Given the description of an element on the screen output the (x, y) to click on. 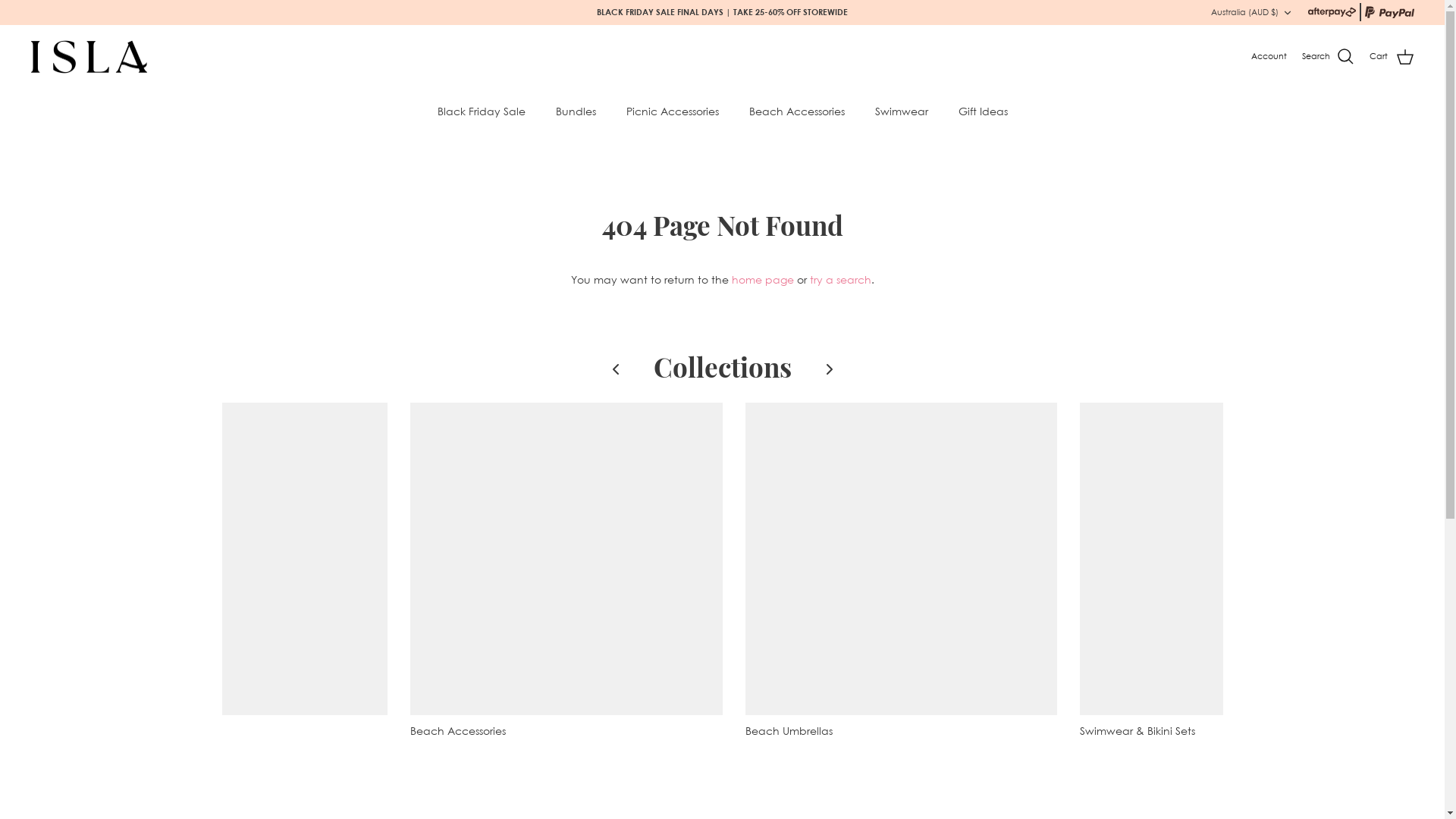
Isla In Bloom Element type: hover (88, 57)
home page Element type: text (762, 279)
Cart Element type: text (1391, 56)
Australia (AUD $)
Down Element type: text (1251, 12)
Beach Accessories Element type: text (796, 110)
Account Element type: text (1268, 56)
BLACK FRIDAY SALE FINAL DAYS | TAKE 25-60% OFF STOREWIDE Element type: text (721, 11)
try a search Element type: text (840, 279)
Search Element type: text (1328, 56)
Swimwear & Bikini Sets Element type: text (1235, 574)
Black Friday Sale Element type: text (480, 110)
Beach Accessories Element type: text (566, 574)
Bundles Element type: text (574, 110)
Swimwear Element type: text (901, 110)
Beach Umbrellas Element type: text (900, 574)
Picnic Accessories Element type: text (672, 110)
Gift Ideas Element type: text (982, 110)
Woven Picnic & Beach Rugs Element type: text (231, 574)
